Given the description of an element on the screen output the (x, y) to click on. 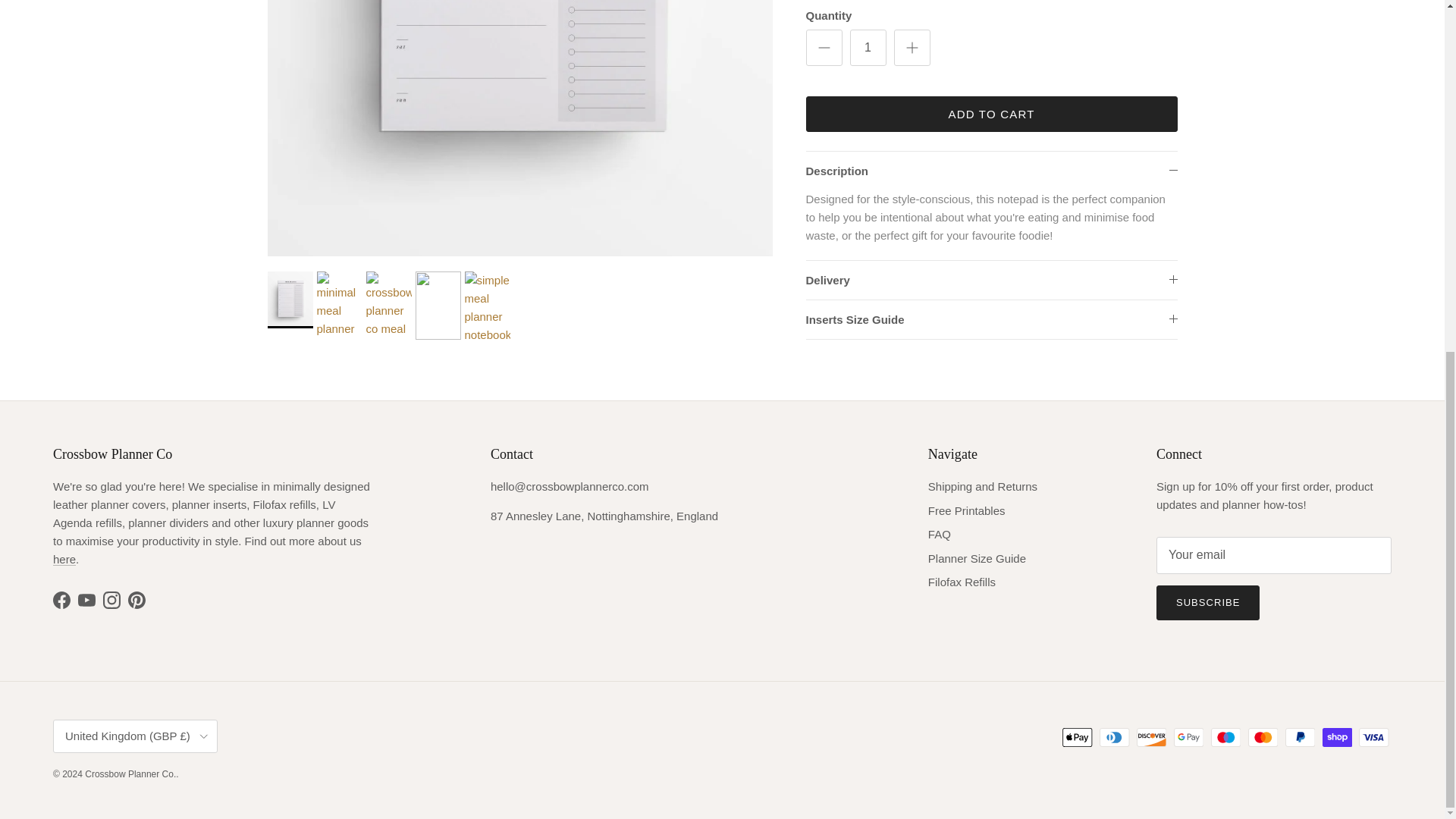
Crossbow Planner Co. on Pinterest (136, 600)
Crossbow Planner Co. on Facebook (60, 600)
Crossbow Planner Co. on Instagram (111, 600)
Crossbow Planner Co. on YouTube (87, 600)
About new (63, 558)
